Given the description of an element on the screen output the (x, y) to click on. 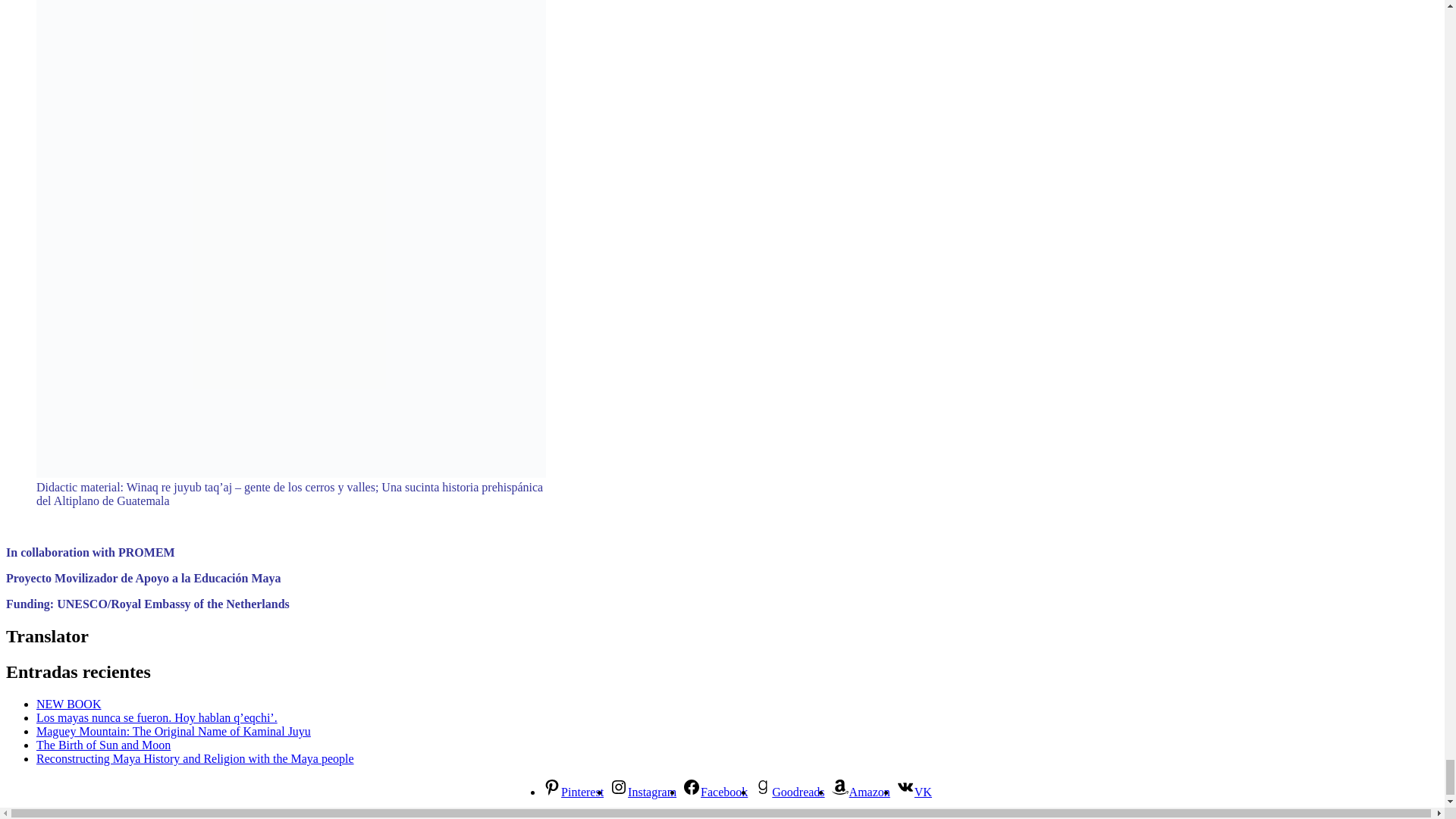
NEW BOOK (68, 703)
Instagram (643, 791)
Pinterest (573, 791)
The Birth of Sun and Moon (103, 744)
Maguey Mountain: The Original Name of Kaminal Juyu (173, 730)
Goodreads (789, 791)
VK (913, 791)
Amazon (860, 791)
Facebook (715, 791)
